Given the description of an element on the screen output the (x, y) to click on. 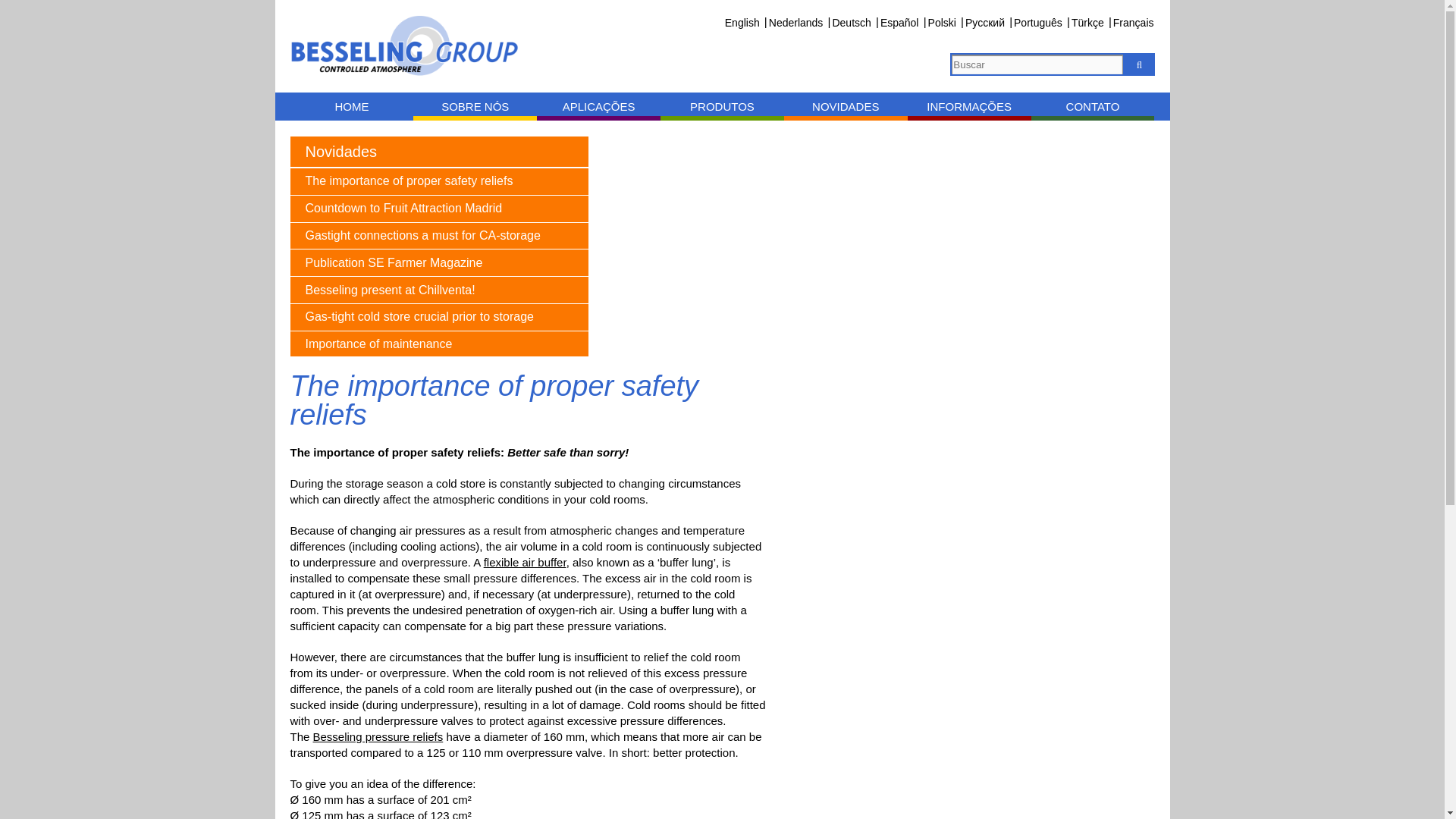
Nederlands (796, 21)
Deutsch (850, 21)
Polski (942, 21)
Besseling present at Chillventa! (438, 289)
Countdown to Fruit Attraction Madrid (438, 208)
English (742, 21)
Gas-tight cold store crucial prior to storage (438, 317)
Gastight connections a must for CA-storage (438, 236)
HOME (351, 106)
NOVIDADES (845, 106)
Publication SE Farmer Magazine (438, 262)
CONTATO (1092, 106)
PRODUTOS (722, 106)
Importance of maintenance (438, 344)
The importance of proper safety reliefs (438, 181)
